Given the description of an element on the screen output the (x, y) to click on. 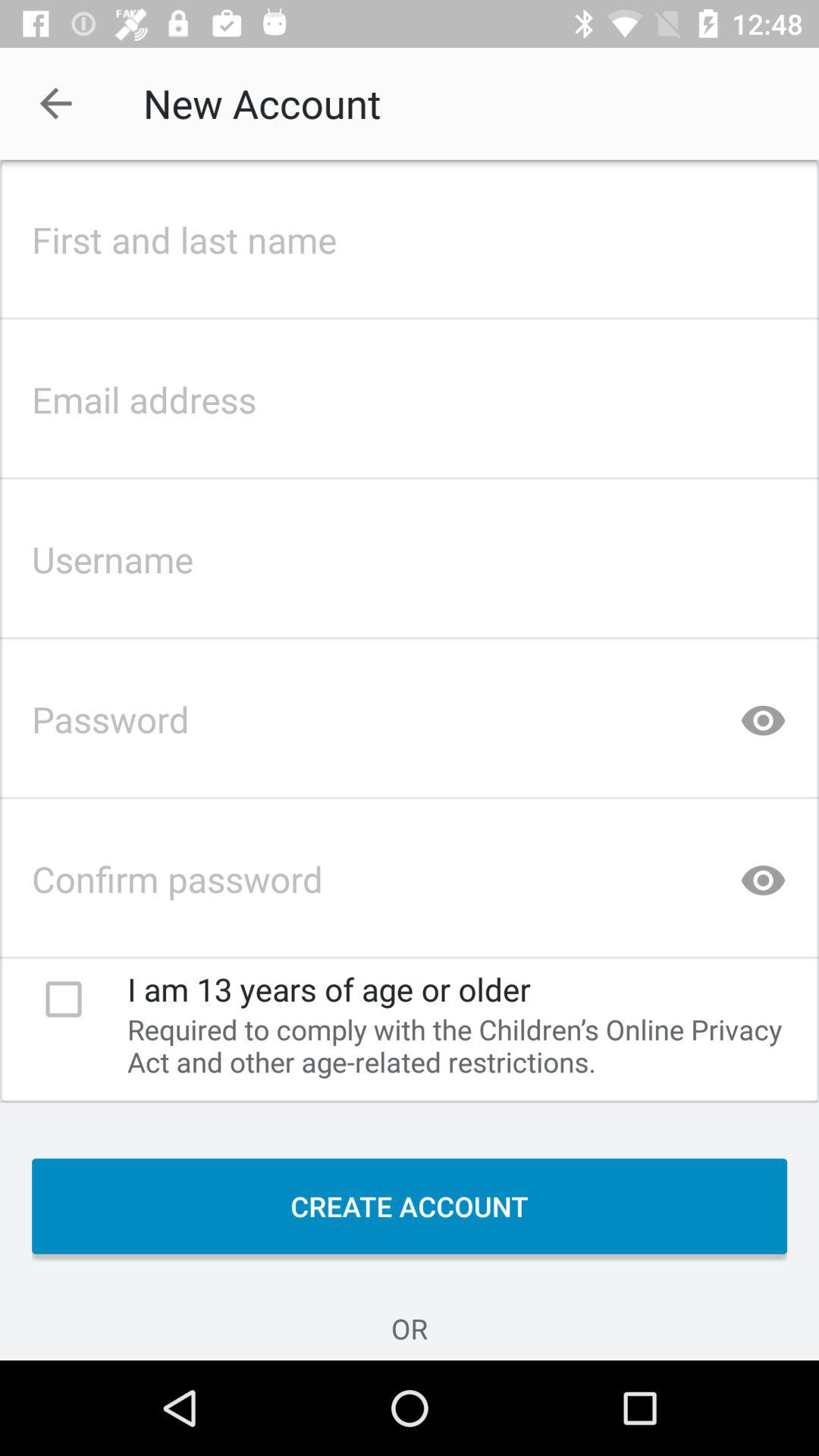
open item next to new account item (55, 103)
